Given the description of an element on the screen output the (x, y) to click on. 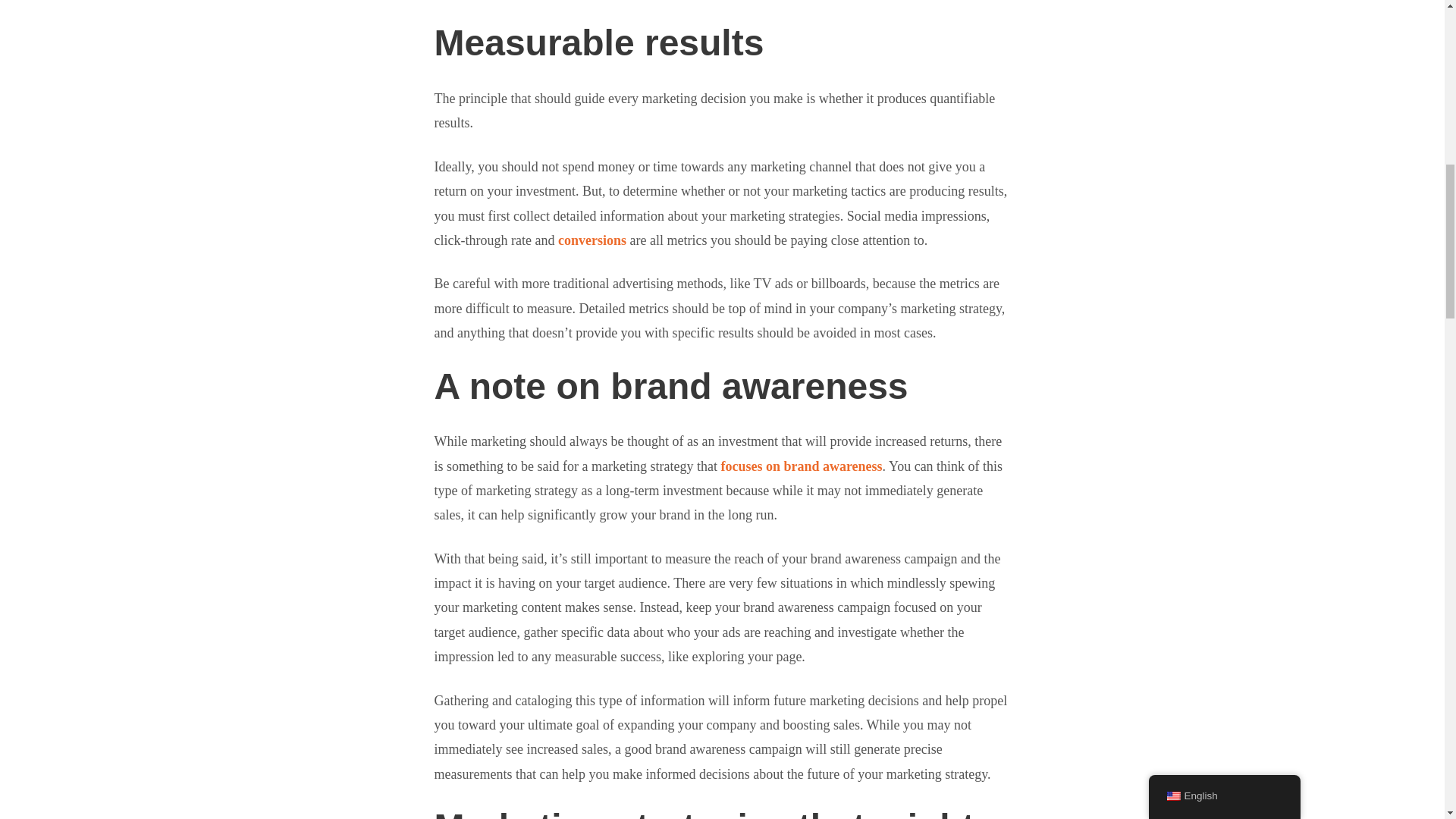
conversions (591, 240)
focuses on brand awareness (801, 466)
